Given the description of an element on the screen output the (x, y) to click on. 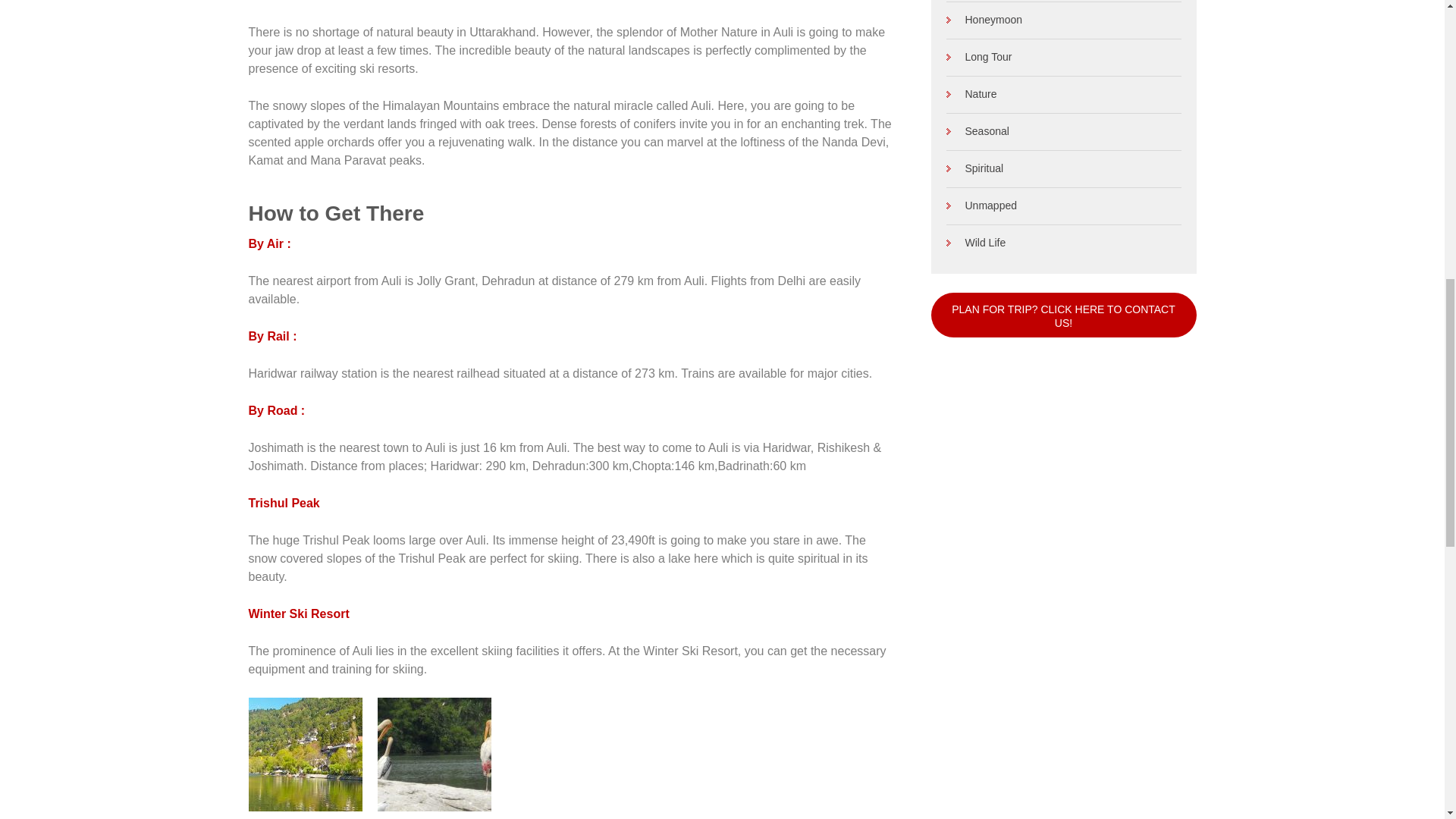
Nature (971, 93)
Spiritual (975, 168)
Wild Life (976, 242)
Long Tour (978, 56)
PLAN FOR TRIP? CLICK HERE TO CONTACT US! (1063, 314)
Unmapped (981, 205)
Honeymoon (984, 19)
Seasonal (977, 131)
